Given the description of an element on the screen output the (x, y) to click on. 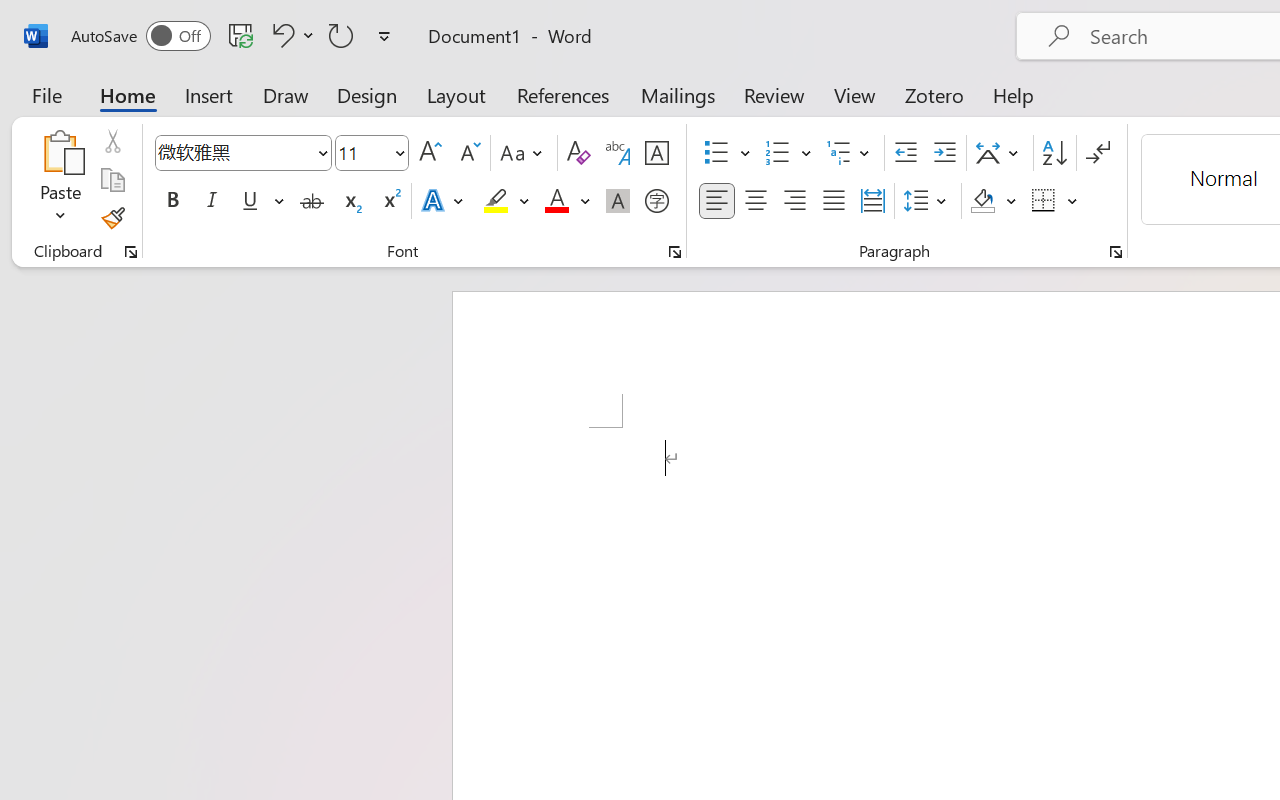
Undo <ApplyStyleToDoc>b__0 (290, 35)
Repeat Style (341, 35)
